Given the description of an element on the screen output the (x, y) to click on. 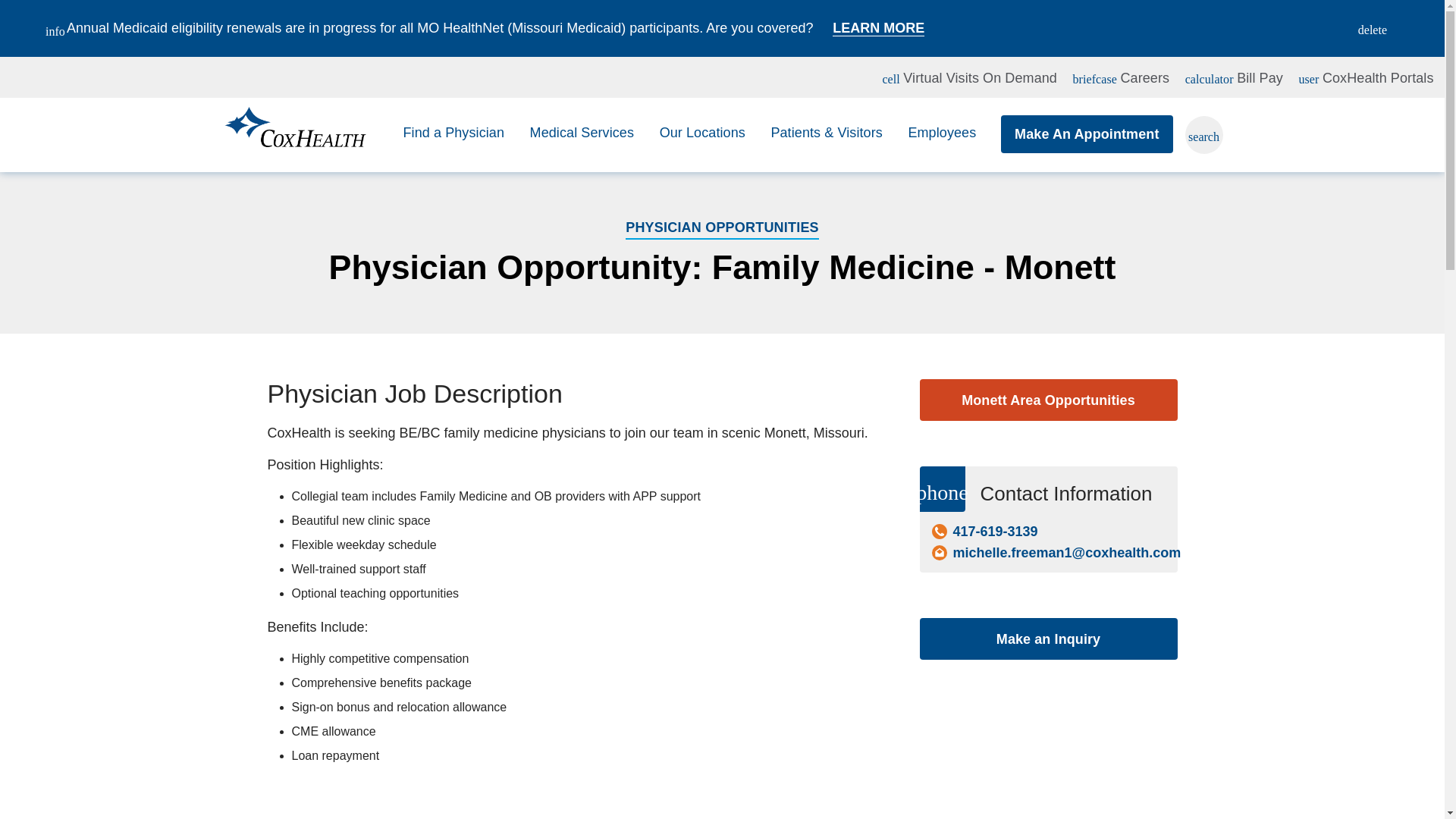
Contact us today to learn more about this opportunity. (1047, 639)
Find a Physician (581, 134)
